Given the description of an element on the screen output the (x, y) to click on. 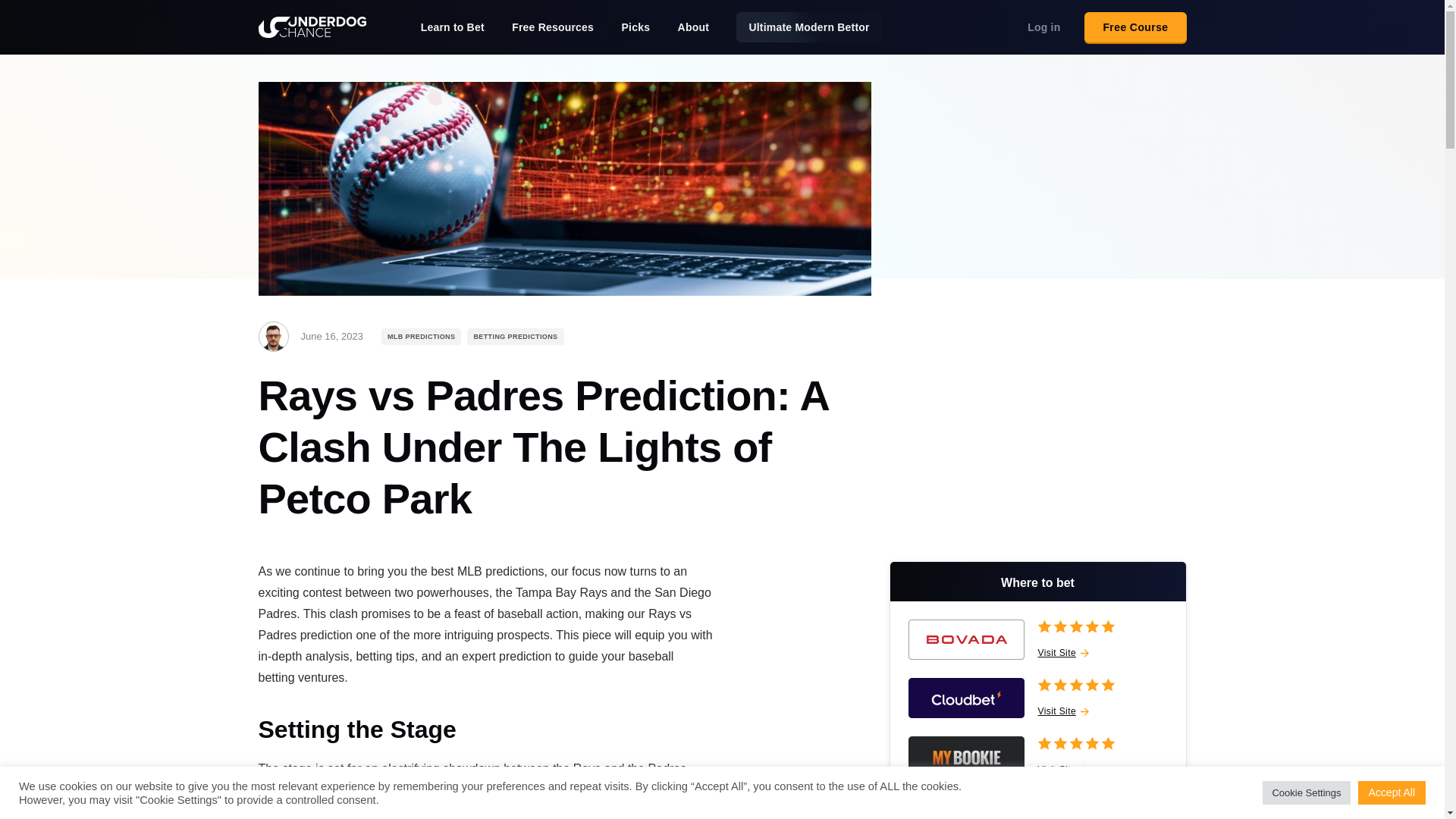
Visit Site (1061, 652)
Ultimate Modern Bettor (808, 27)
MLB PREDICTIONS (421, 336)
See full list (1037, 813)
Log in (1043, 27)
About (693, 27)
Visit Site (1061, 710)
BETTING PREDICTIONS (515, 336)
Free Resources (553, 27)
Picks (635, 27)
